Given the description of an element on the screen output the (x, y) to click on. 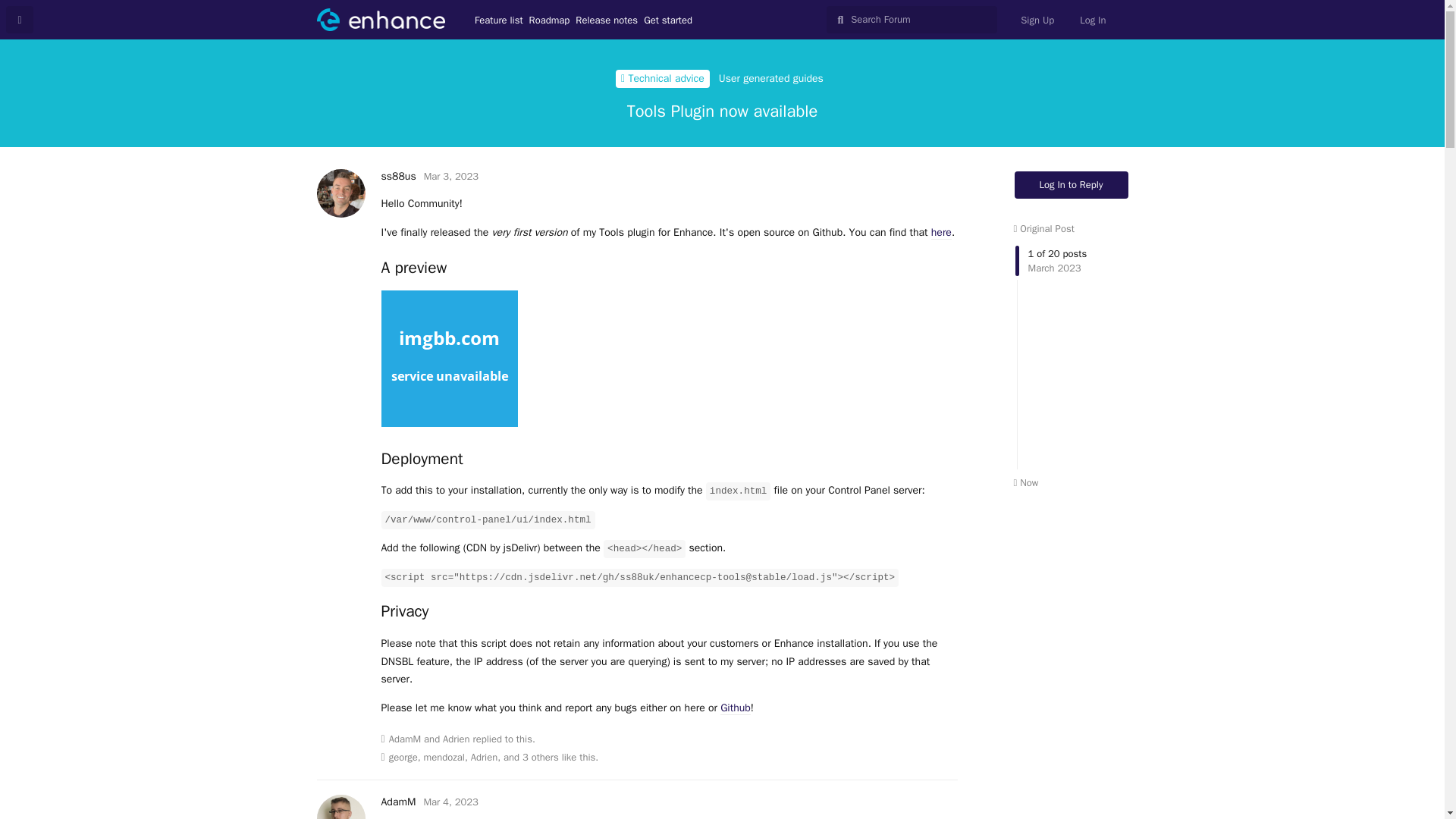
Get help setting up, configuring, and scaling Enhance. (662, 78)
Now (1025, 481)
Friday, March 3, 2023 9:50 PM (451, 175)
Get started (668, 19)
Log In to Reply (1071, 185)
AdamM (405, 739)
Release notes (606, 19)
Feature list (498, 19)
AdamM (397, 801)
Saturday, March 4, 2023 12:26 AM (450, 801)
Adrien (483, 757)
george (402, 757)
Log In (1092, 19)
Technical advice (662, 78)
Roadmap (549, 19)
